Given the description of an element on the screen output the (x, y) to click on. 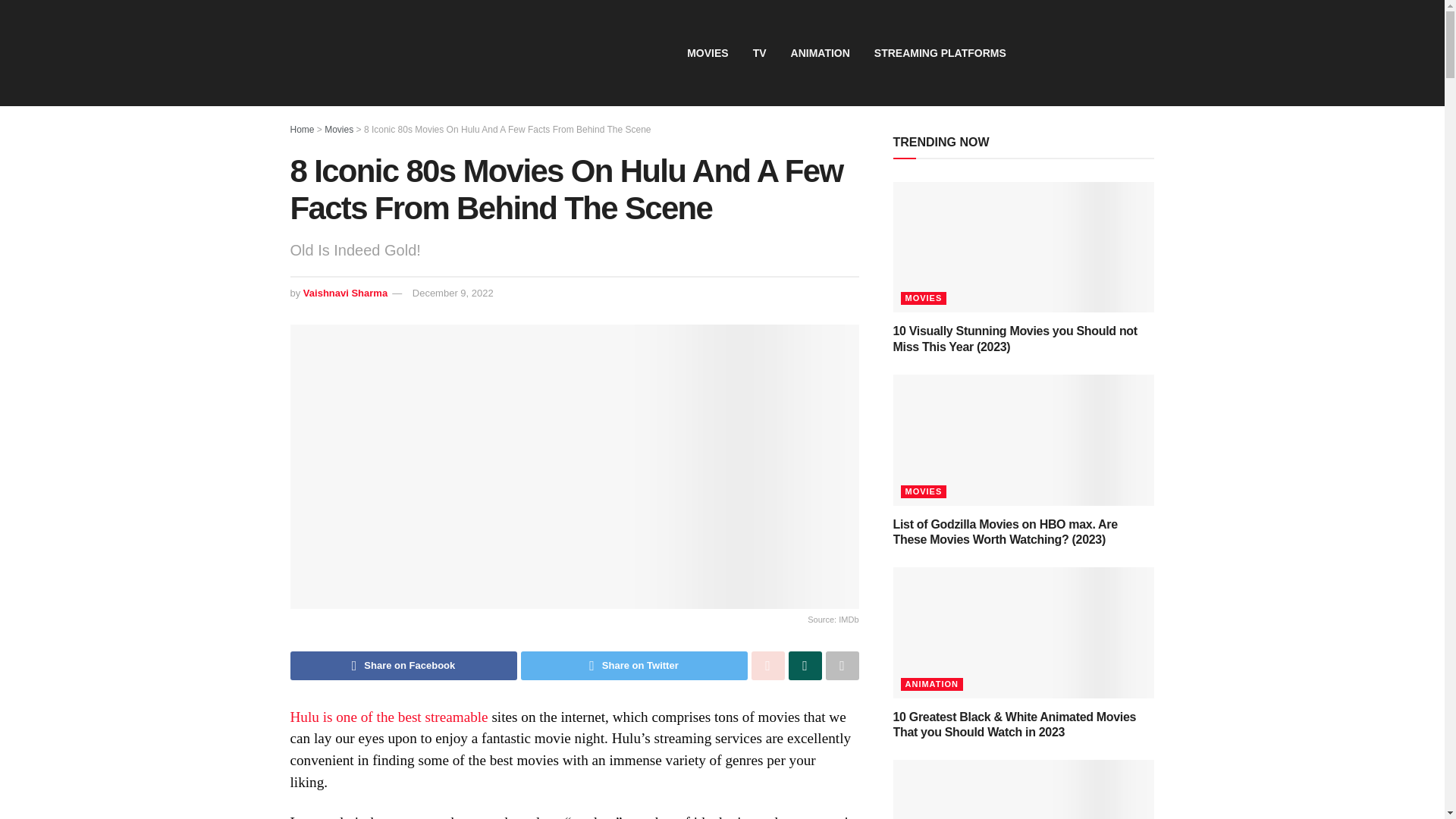
Go to the Movies Category archives. (338, 129)
Vaishnavi Sharma (344, 292)
Hulu is one of the best streamable (388, 716)
December 9, 2022 (452, 292)
MOVIES (707, 53)
STREAMING PLATFORMS (939, 53)
TV (759, 53)
Share on Facebook (402, 665)
Go to OTT Adviser. (301, 129)
Movies (338, 129)
Share on Twitter (632, 665)
Home (301, 129)
ANIMATION (819, 53)
